Given the description of an element on the screen output the (x, y) to click on. 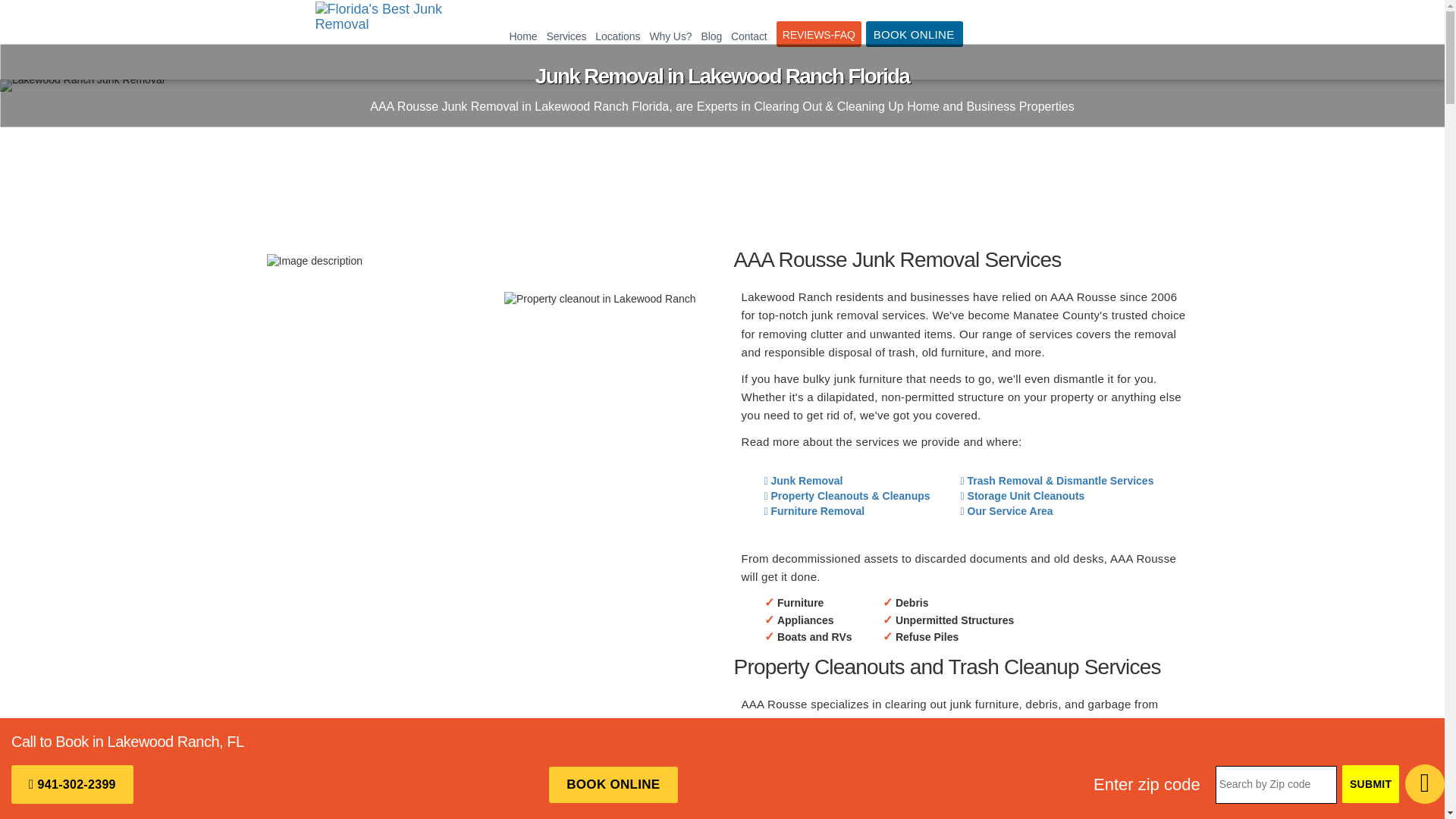
REVIEWS-FAQ (818, 33)
Florida's Best Junk Removal (383, 39)
Lakewood Ranch Junk Removal (82, 85)
Contact (748, 36)
Locations (618, 36)
BOOK ONLINE (914, 33)
Property cleanout in Lakewood Ranch (599, 299)
Services (566, 36)
Blog (710, 36)
Home (523, 36)
